Given the description of an element on the screen output the (x, y) to click on. 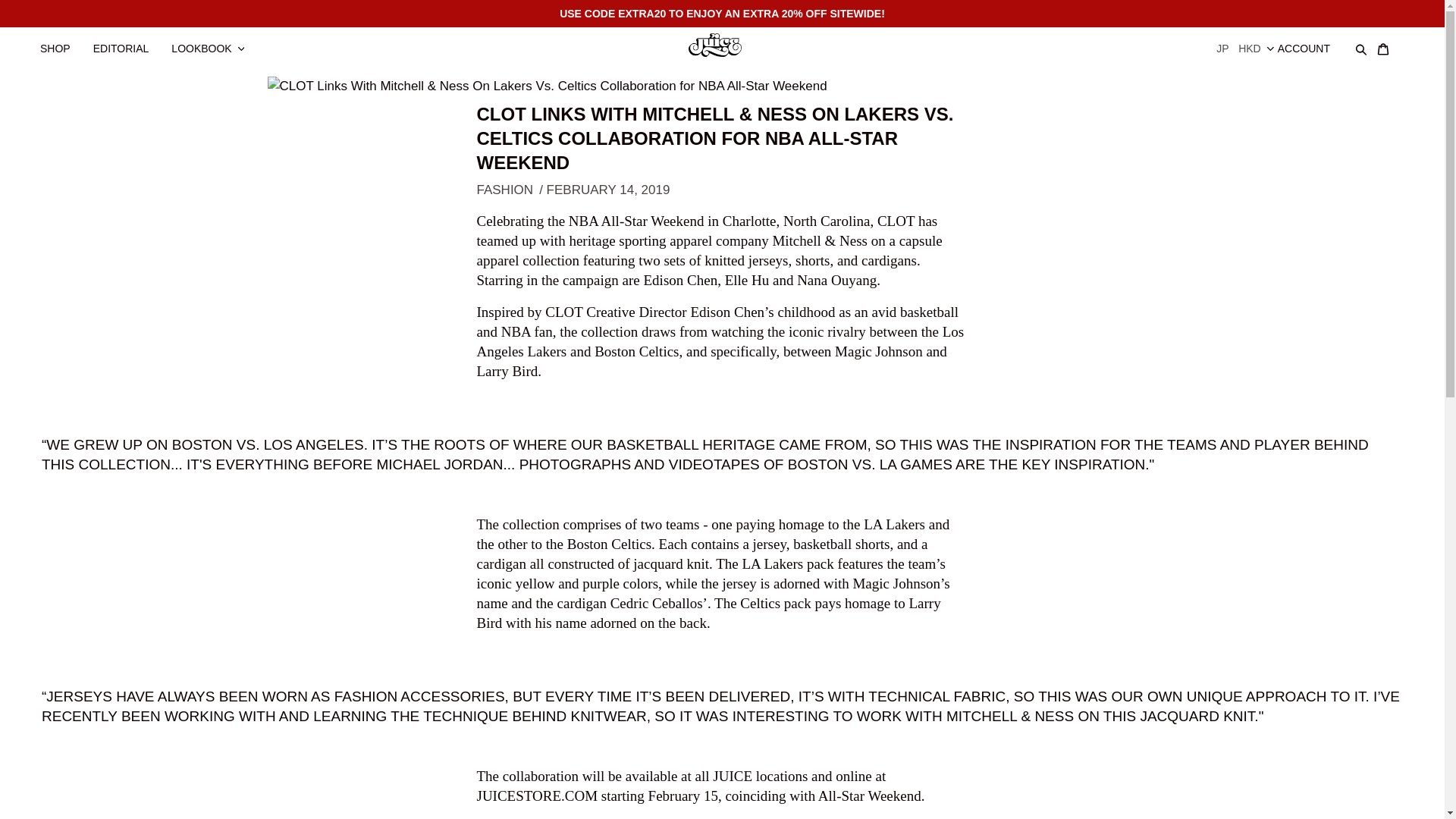
JUICESTORE (722, 43)
SHOP (62, 41)
CART (1390, 41)
ACCOUNT (1311, 41)
EDITORIAL (128, 41)
